Given the description of an element on the screen output the (x, y) to click on. 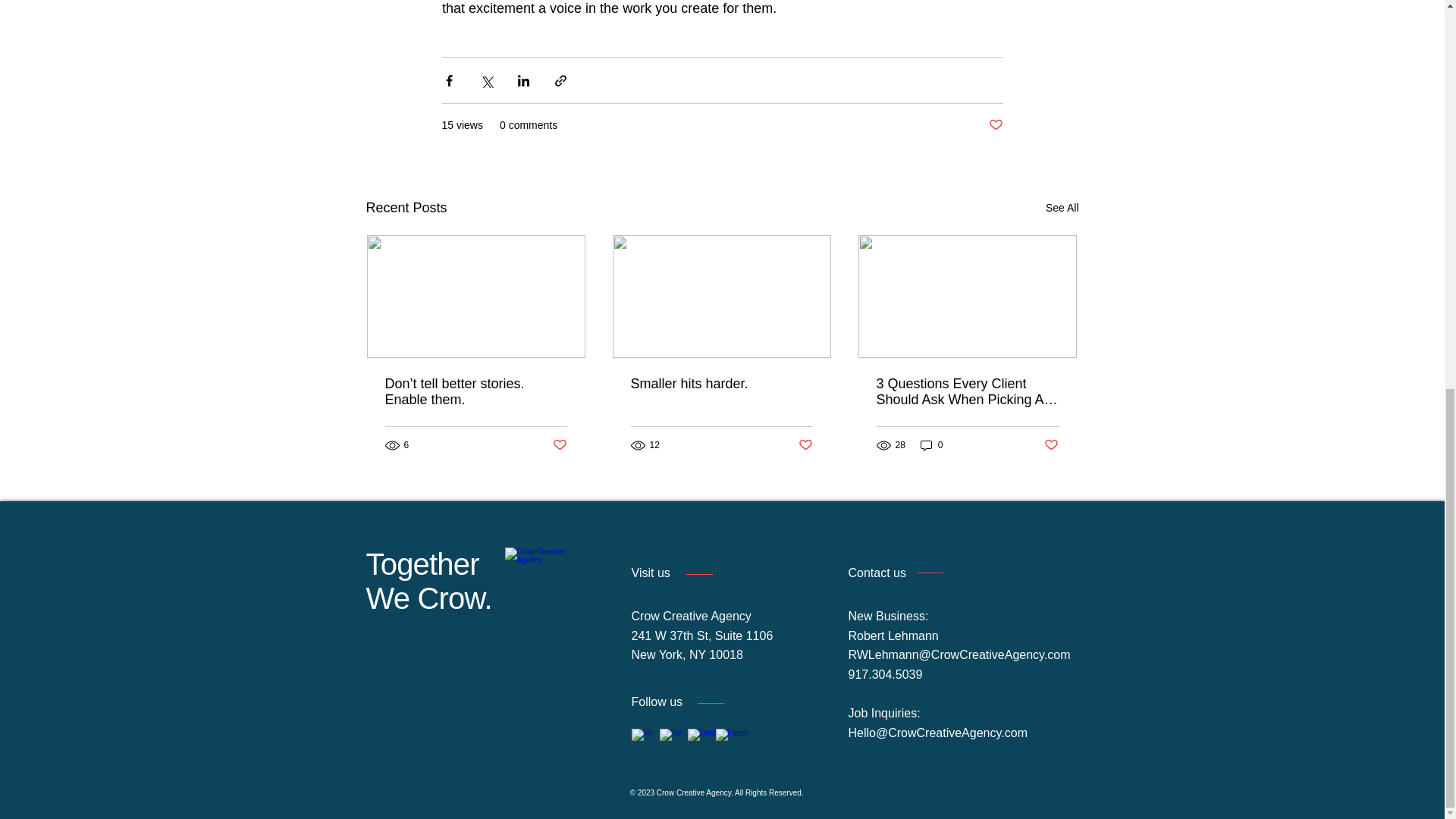
0 (931, 445)
Post not marked as liked (995, 125)
Post not marked as liked (558, 444)
917.304.5039 (884, 674)
All Rights Reserved.  (770, 792)
Post not marked as liked (804, 444)
See All (1061, 208)
Smaller hits harder. (721, 383)
Post not marked as liked (1050, 444)
